Given the description of an element on the screen output the (x, y) to click on. 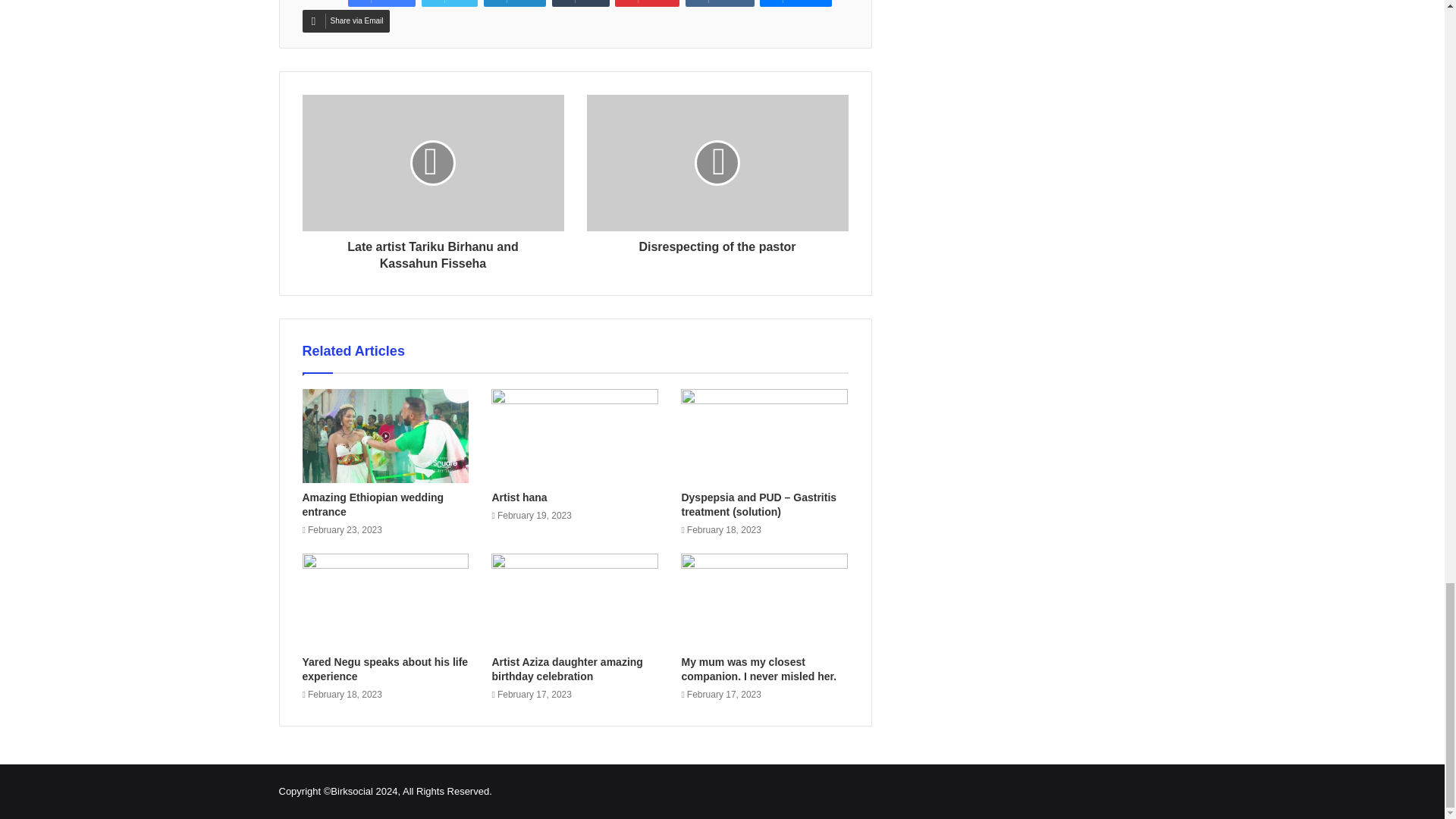
Facebook (380, 3)
Facebook (380, 3)
Tumblr (580, 3)
Twitter (449, 3)
LinkedIn (515, 3)
